Given the description of an element on the screen output the (x, y) to click on. 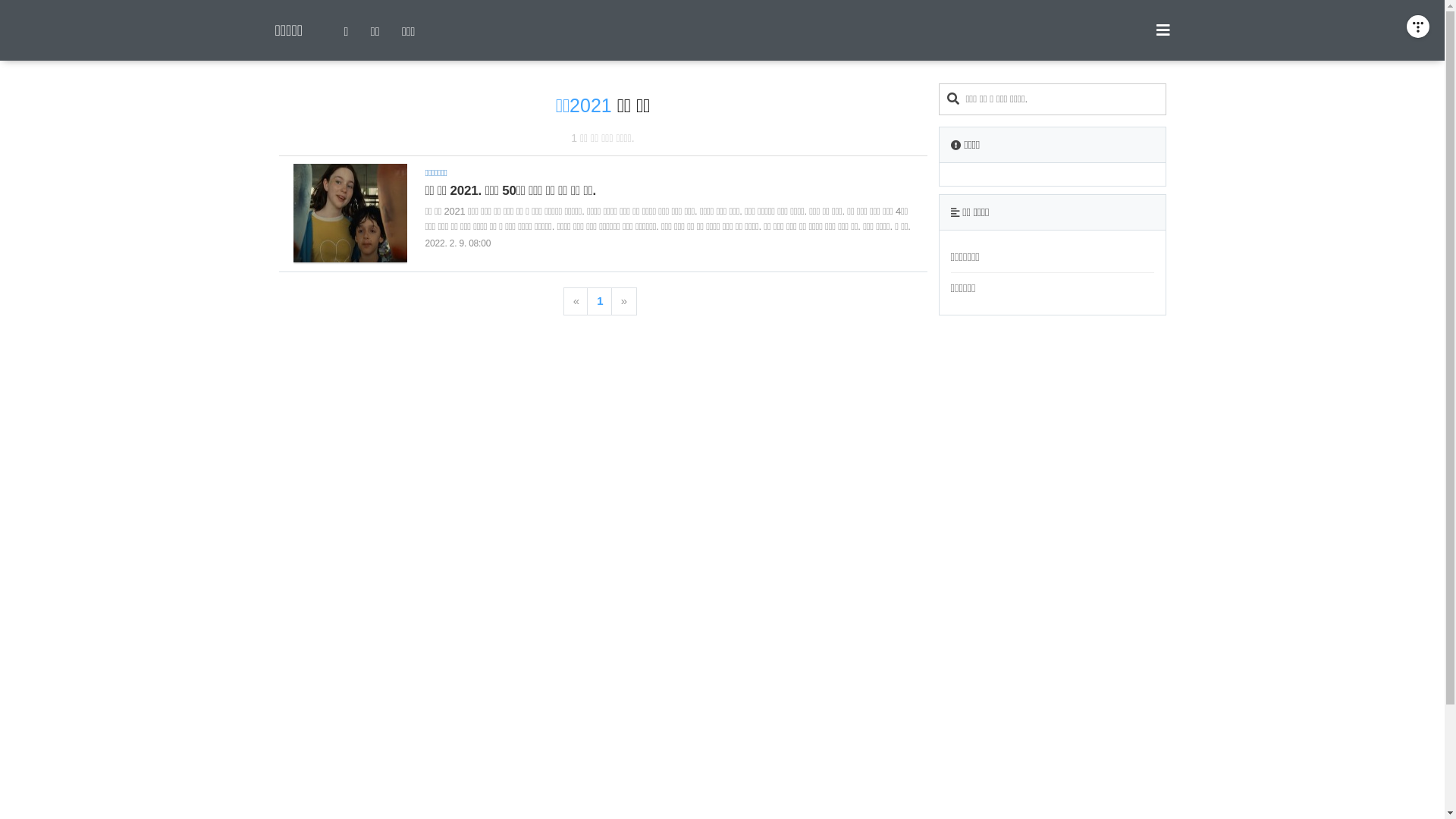
1 Element type: text (599, 301)
